Given the description of an element on the screen output the (x, y) to click on. 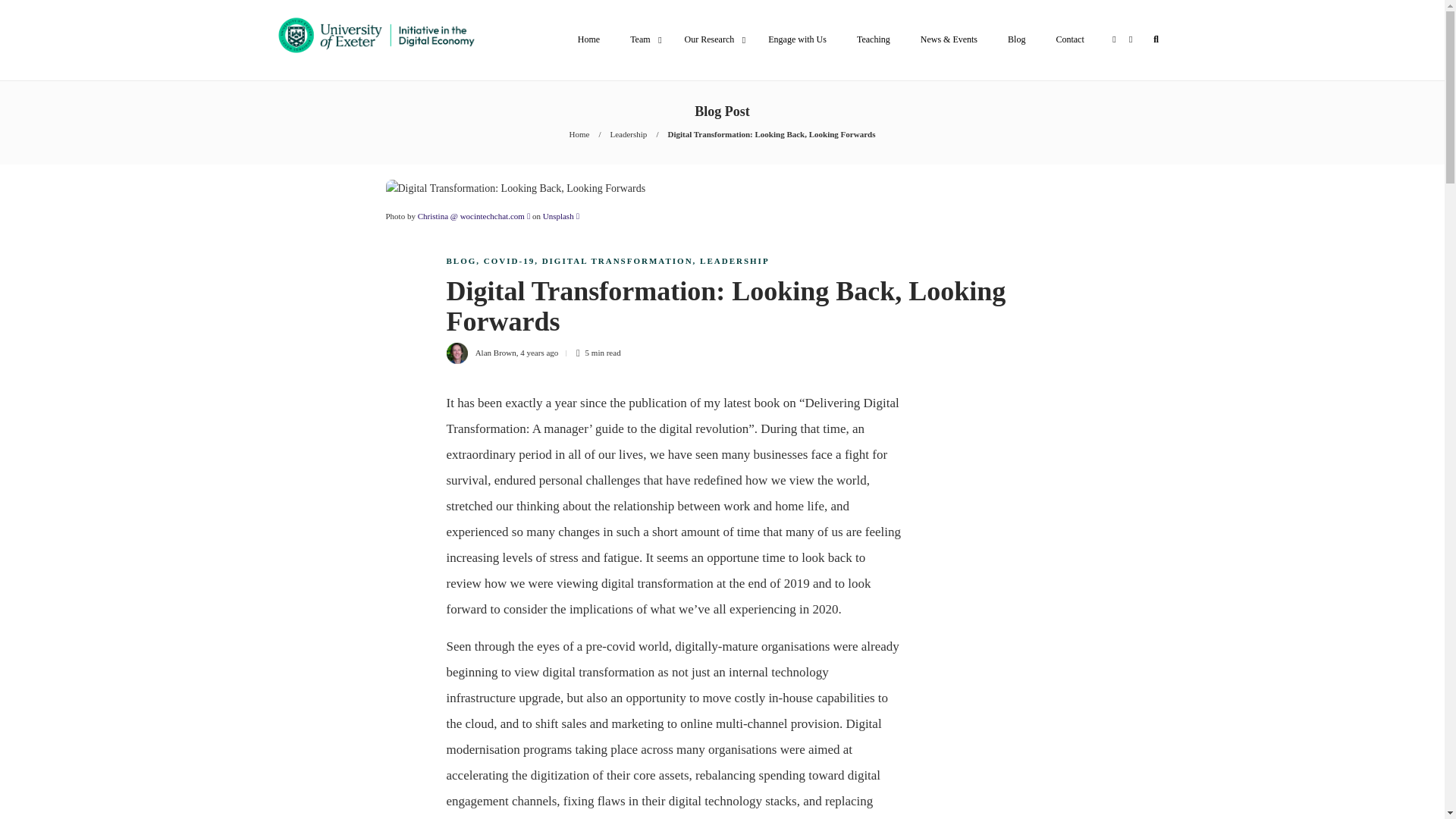
Home (579, 133)
Team (641, 39)
Home (588, 39)
Digital Transformation: Looking Back, Looking Forwards (770, 133)
